Given the description of an element on the screen output the (x, y) to click on. 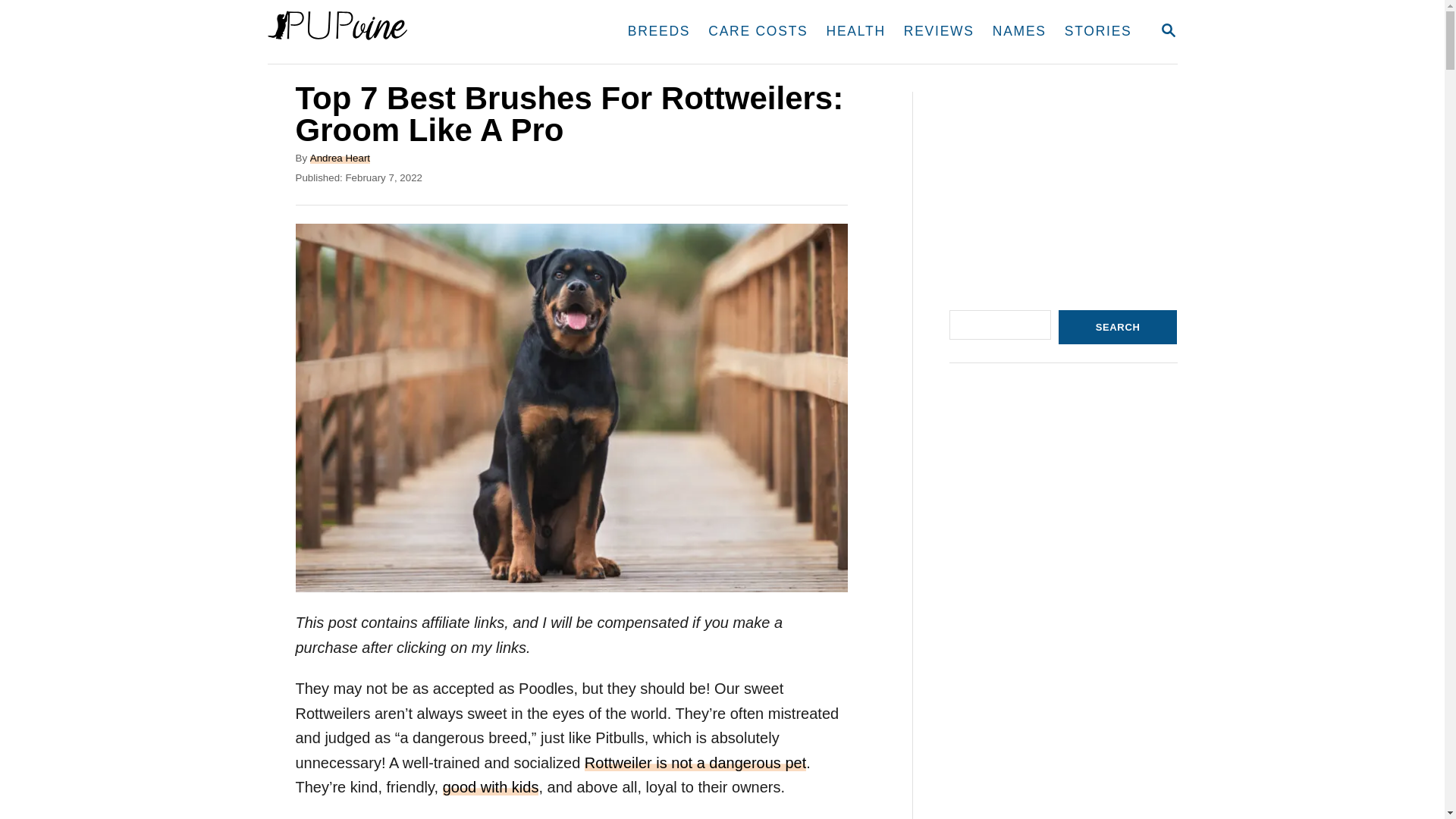
HEALTH (855, 31)
REVIEWS (1167, 31)
MAGNIFYING GLASS (939, 31)
BREEDS (1167, 30)
Rottweiler is not a dangerous pet (658, 31)
CARE COSTS (695, 762)
PupVine (757, 31)
NAMES (411, 31)
STORIES (1019, 31)
Andrea Heart (1098, 31)
good with kids (339, 156)
